Given the description of an element on the screen output the (x, y) to click on. 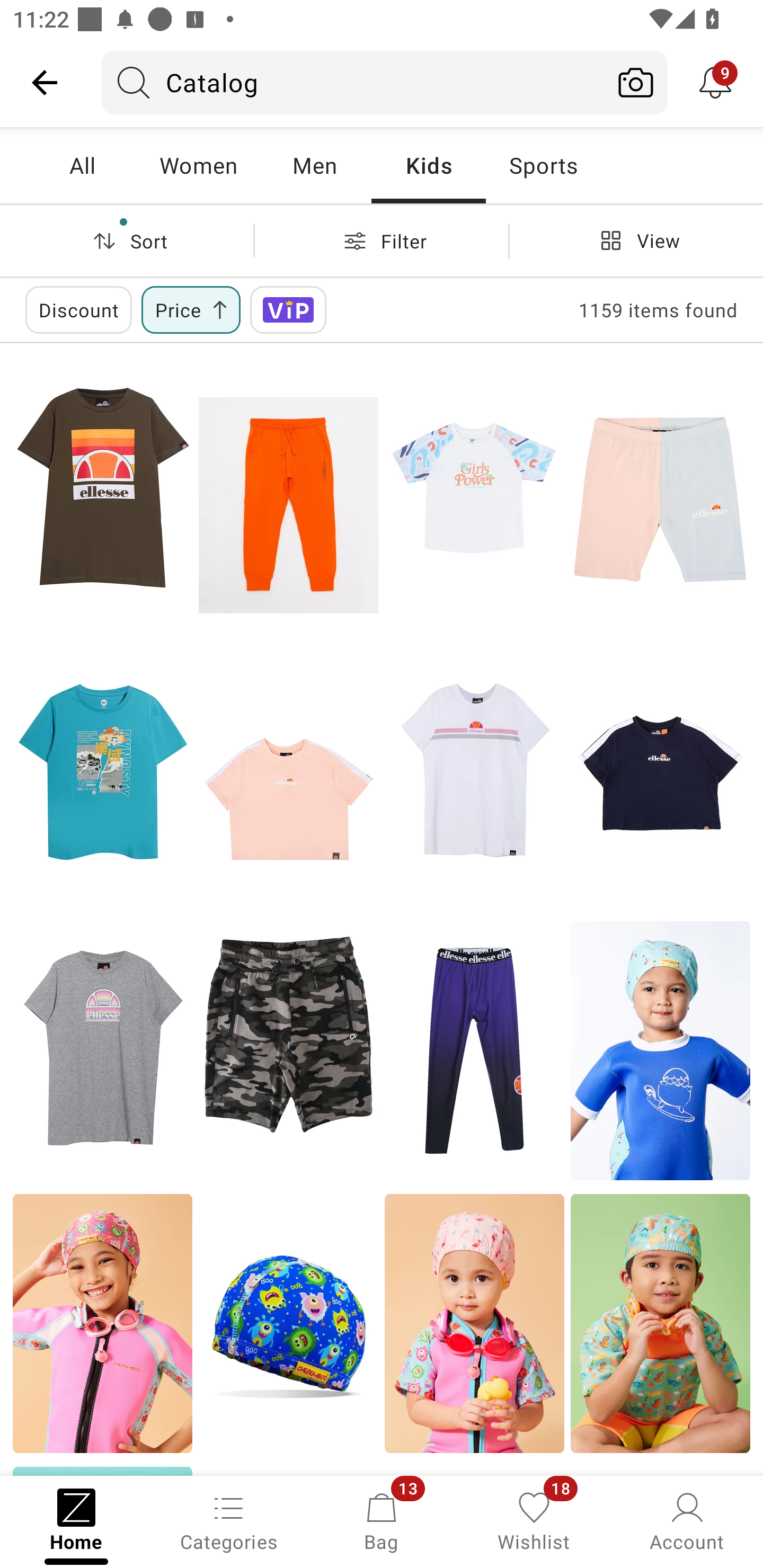
Navigate up (44, 82)
Catalog (352, 82)
All (82, 165)
Women (198, 165)
Men (314, 165)
Sports (543, 165)
Sort (126, 240)
Filter (381, 240)
View (636, 240)
Discount (78, 309)
Price (190, 309)
Categories (228, 1519)
Bag, 13 new notifications Bag (381, 1519)
Wishlist, 18 new notifications Wishlist (533, 1519)
Account (686, 1519)
